Given the description of an element on the screen output the (x, y) to click on. 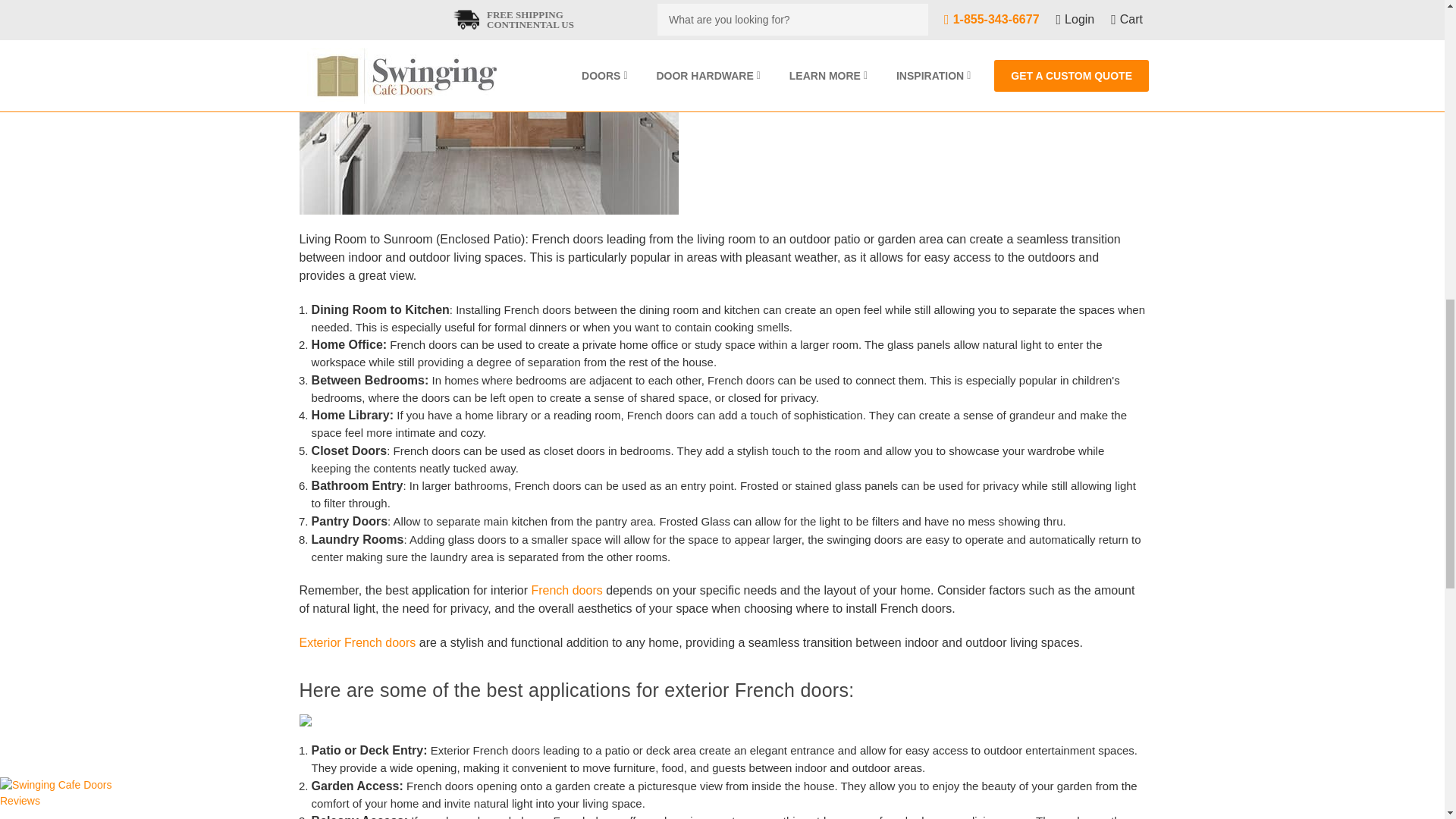
Modern Double Swinging French Doors  (488, 107)
